Given the description of an element on the screen output the (x, y) to click on. 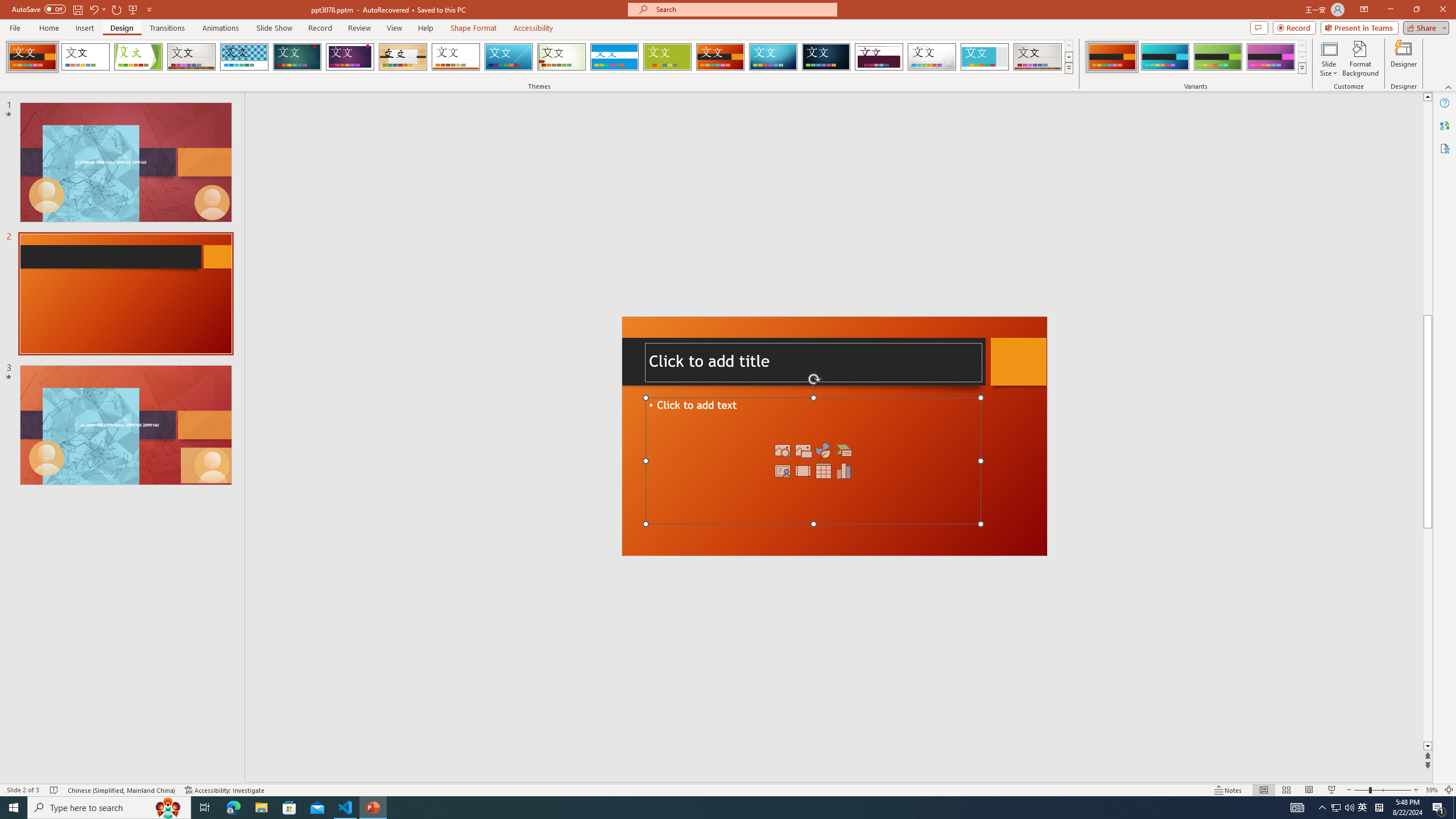
Slice (508, 56)
Banded (614, 56)
Damask (826, 56)
AutomationID: SlideThemesGallery (539, 56)
Shape Format (473, 28)
Ion (296, 56)
Stock Images (782, 450)
Retrospect (455, 56)
